Given the description of an element on the screen output the (x, y) to click on. 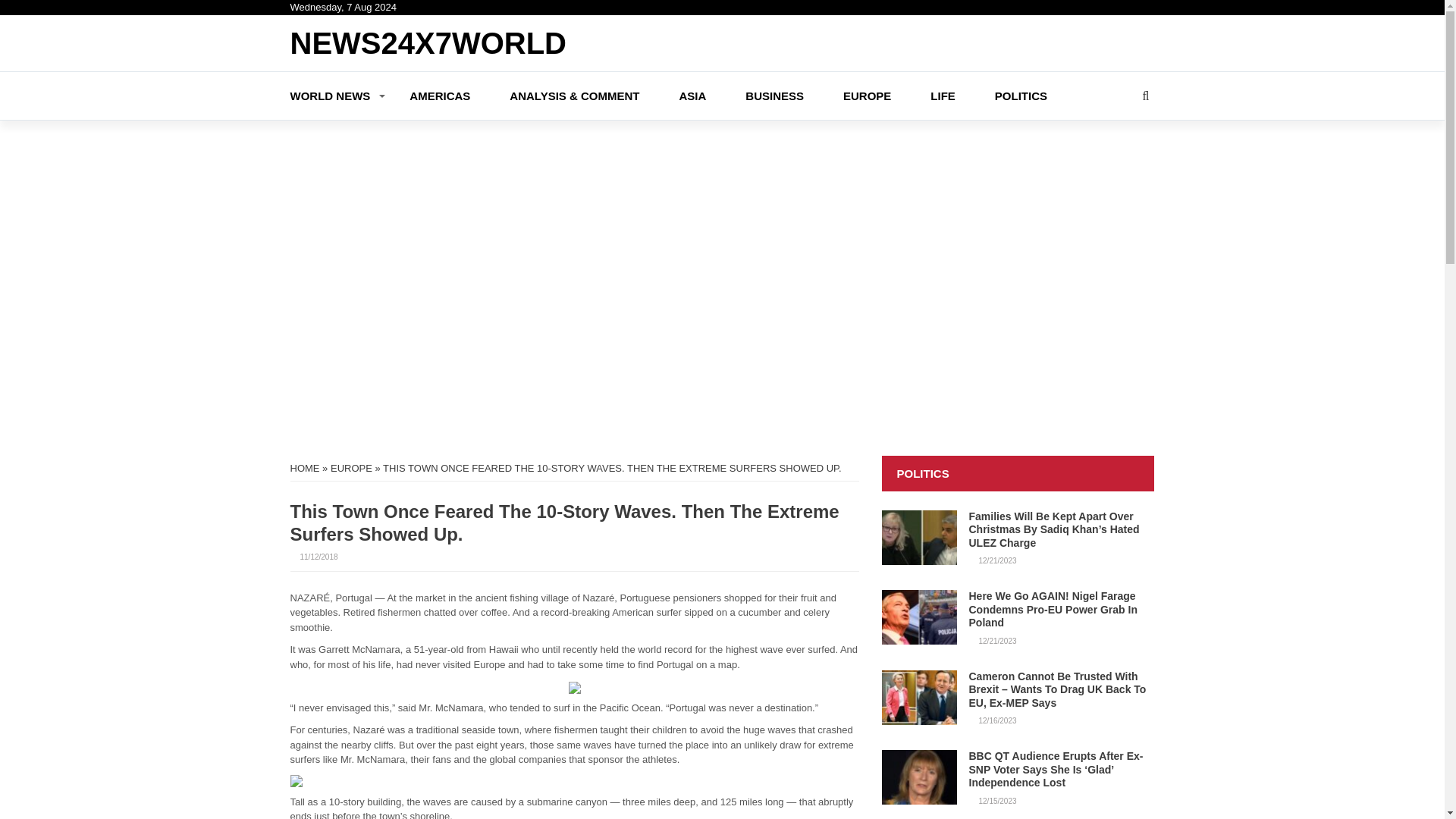
BUSINESS (794, 94)
Europe (886, 94)
ASIA (711, 94)
EUROPE (351, 468)
Politics (1040, 94)
Life (962, 94)
Americas (459, 94)
EUROPE (886, 94)
Business (794, 94)
LIFE (962, 94)
Asia (711, 94)
World News (349, 94)
HOME (303, 468)
POLITICS (1040, 94)
WORLD NEWS (349, 94)
